Given the description of an element on the screen output the (x, y) to click on. 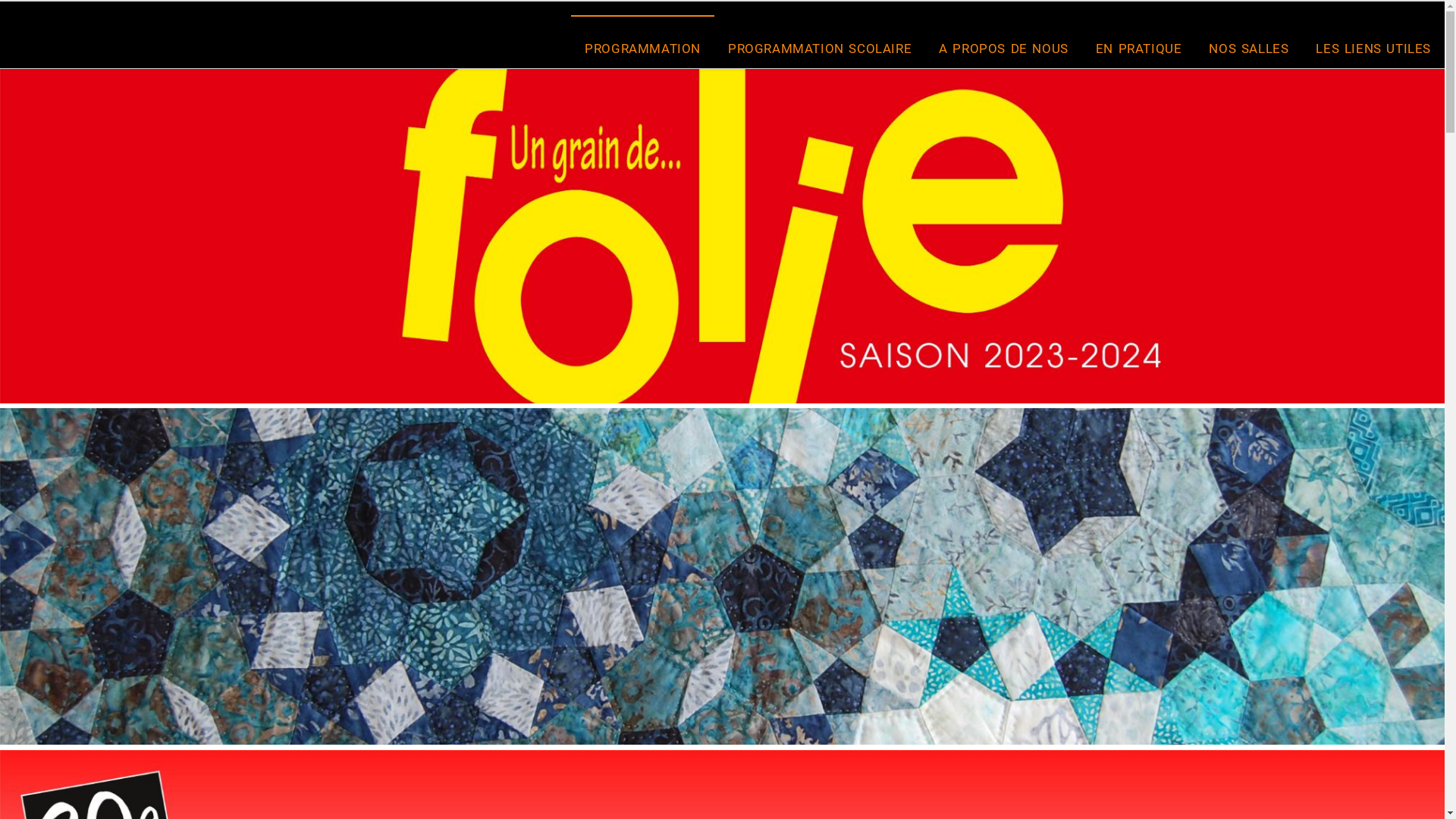
LES LIENS UTILES Element type: text (1373, 48)
EN PRATIQUE Element type: text (1138, 48)
NOS SALLES Element type: text (1248, 48)
PROGRAMMATION SCOLAIRE Element type: text (819, 48)
PROGRAMMATION Element type: text (642, 48)
A PROPOS DE NOUS Element type: text (1003, 48)
